Given the description of an element on the screen output the (x, y) to click on. 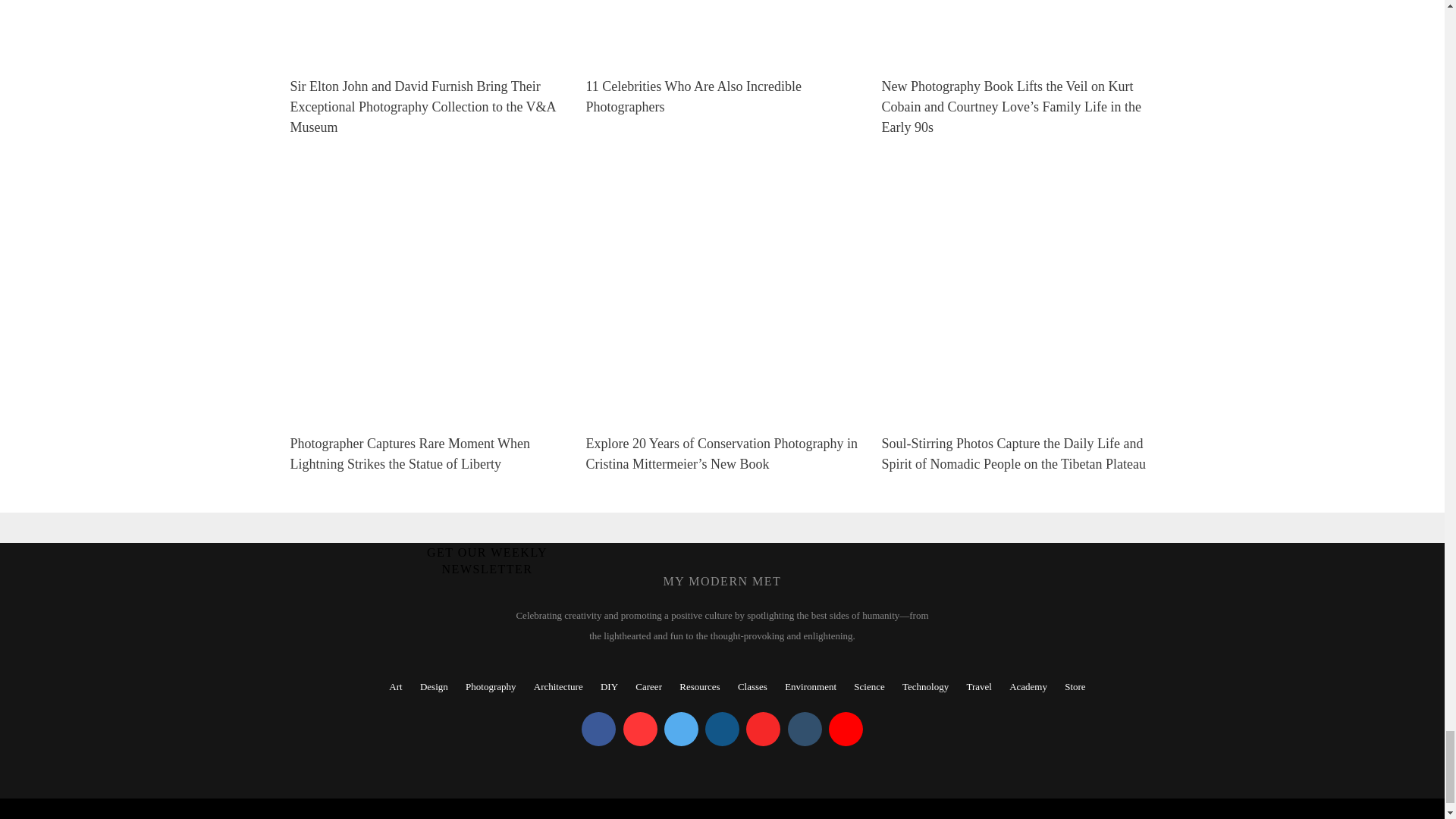
My Modern Met on Twitter (680, 728)
My Modern Met on Facebook (597, 728)
My Modern Met on Tumblr (804, 728)
My Modern Met on Instagram (721, 728)
My Modern Met on YouTube (845, 728)
My Modern Met on Pinterest (640, 728)
